Given the description of an element on the screen output the (x, y) to click on. 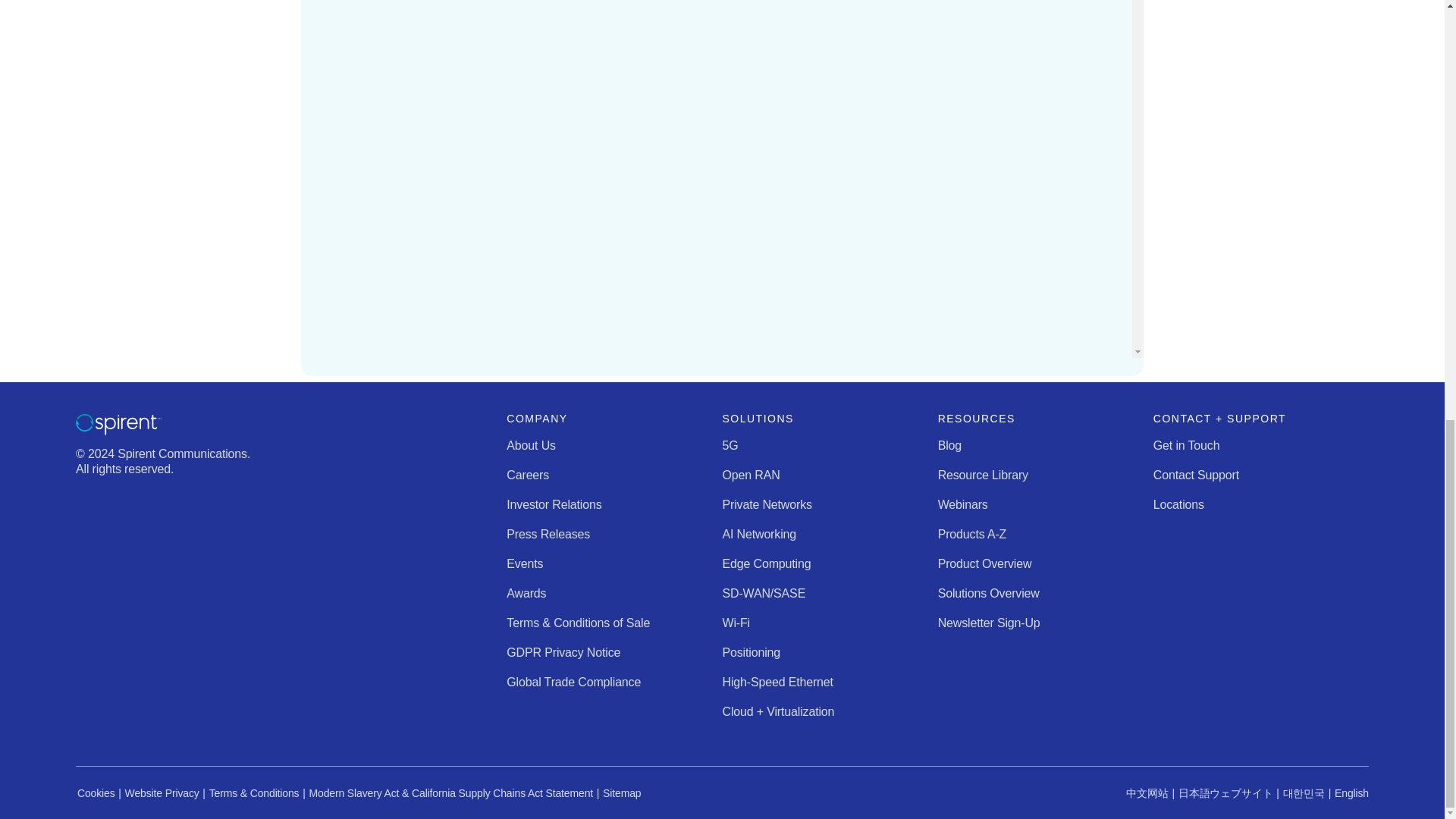
Investor Relations (553, 504)
Careers (527, 474)
Private Networks (766, 504)
Awards (526, 593)
AI Networking (759, 533)
Global Trade Compliance (573, 681)
Open RAN (750, 474)
Events (524, 563)
GDPR Privacy Notice (563, 652)
Edge Computing (766, 563)
